Given the description of an element on the screen output the (x, y) to click on. 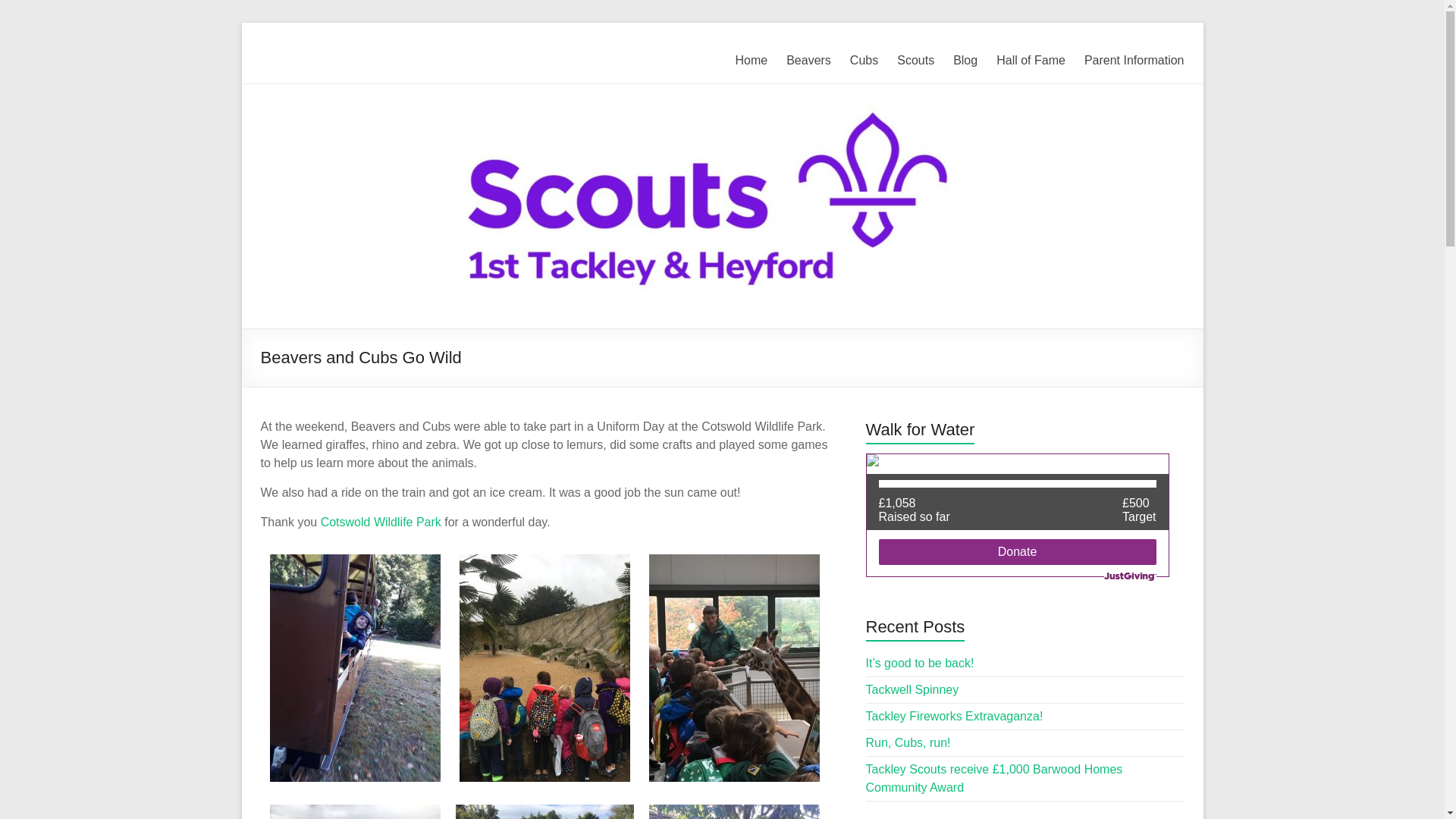
Parent Information (1134, 60)
Donate (1016, 551)
Scouts (915, 60)
Beavers (808, 60)
Home (751, 60)
Blog (964, 60)
Cubs (863, 60)
Cotswold Wildlife Park (380, 521)
Tackwell Spinney (912, 689)
